Given the description of an element on the screen output the (x, y) to click on. 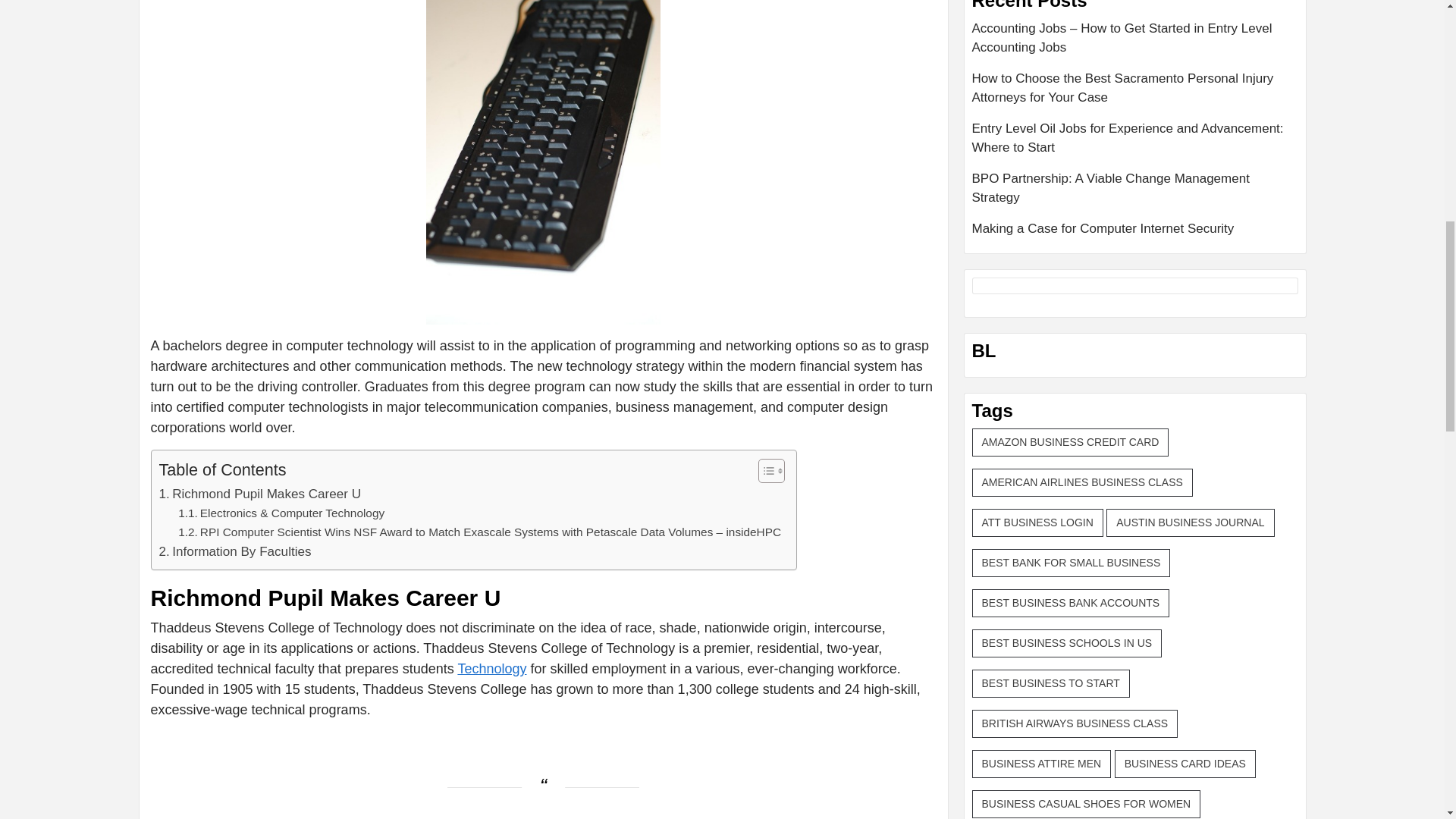
Richmond Pupil Makes Career U (259, 494)
Information By Faculties (234, 551)
Richmond Pupil Makes Career U (259, 494)
Technology (491, 668)
Information By Faculties (234, 551)
